Given the description of an element on the screen output the (x, y) to click on. 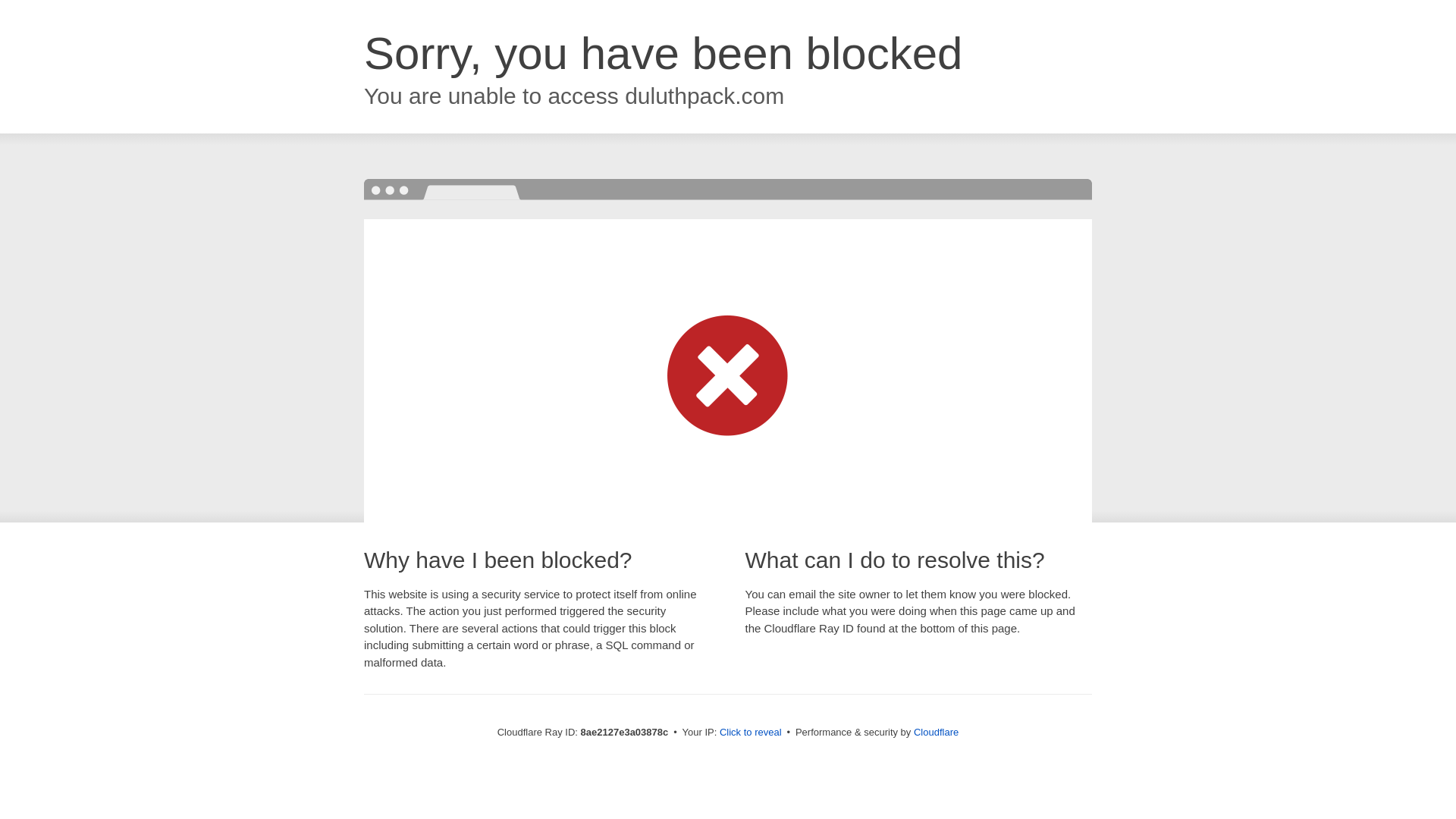
Click to reveal (750, 732)
Cloudflare (936, 731)
